Given the description of an element on the screen output the (x, y) to click on. 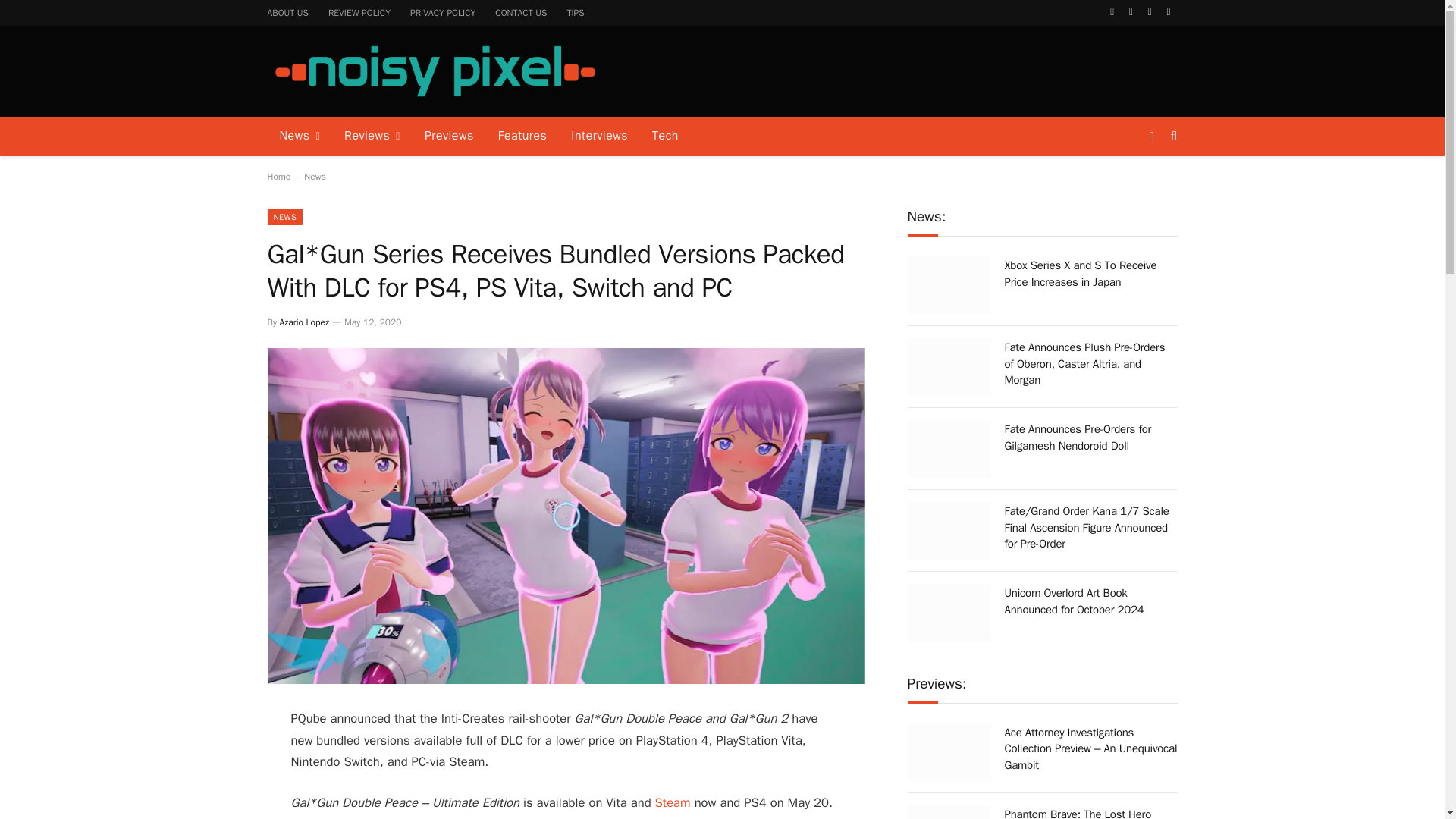
News (315, 176)
NEWS (284, 216)
Azario Lopez (304, 322)
Tech (665, 136)
Features (522, 136)
Home (277, 176)
TIPS (575, 12)
ABOUT US (287, 12)
Previews (449, 136)
Switch to Dark Design - easier on eyes. (1151, 136)
